Given the description of an element on the screen output the (x, y) to click on. 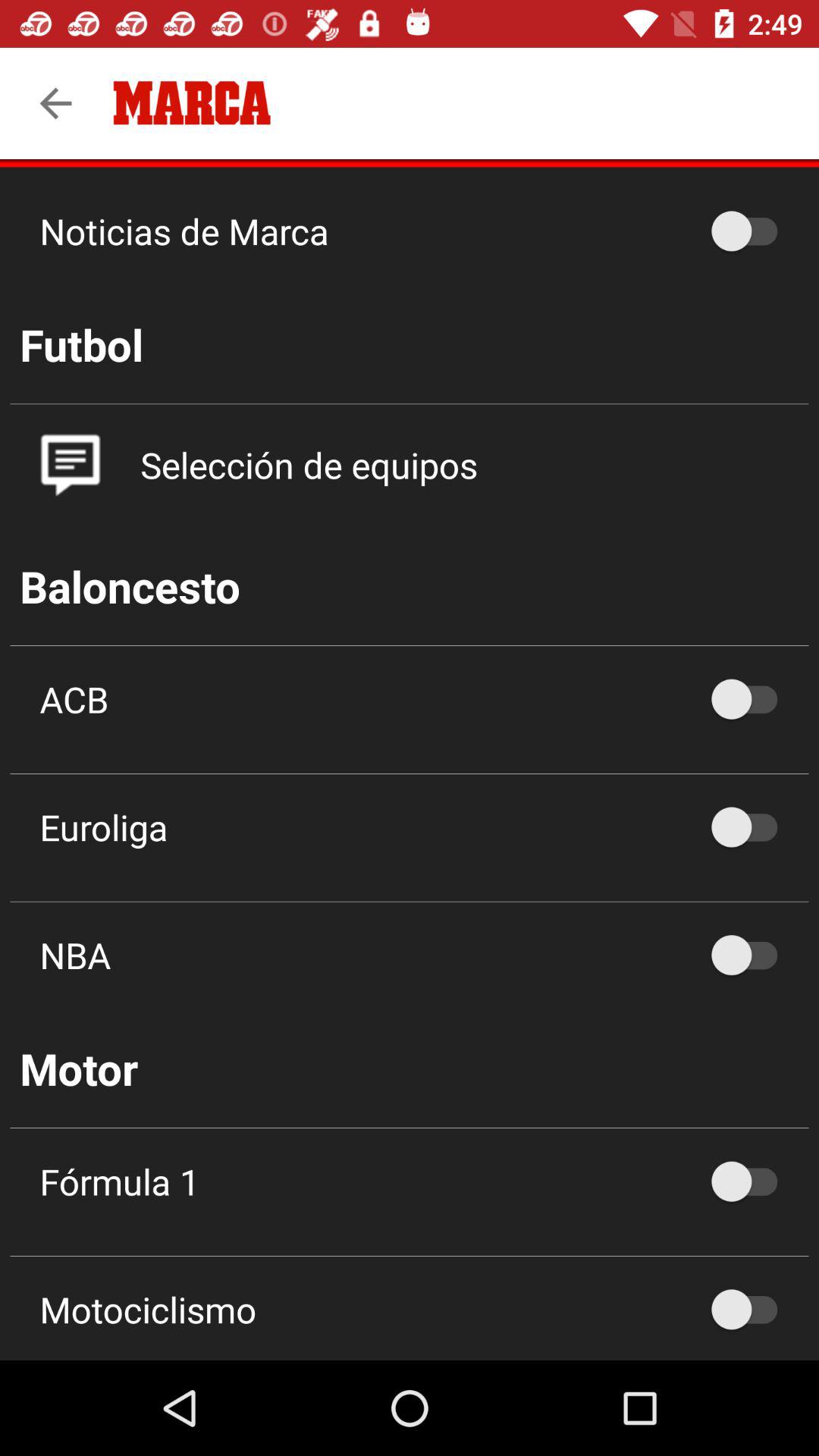
toggle euroliga option (751, 827)
